Given the description of an element on the screen output the (x, y) to click on. 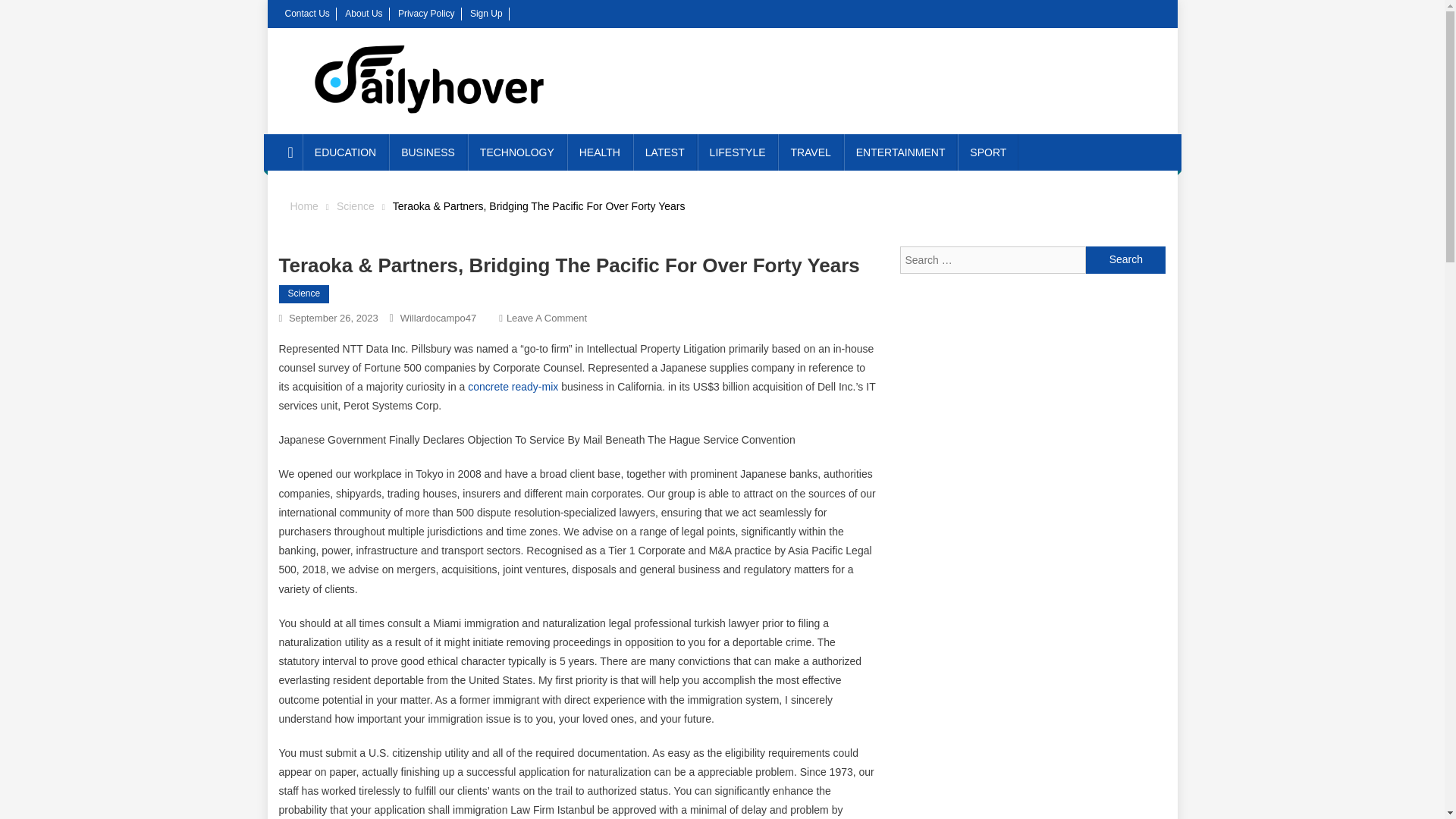
Science (304, 294)
About Us (363, 13)
SPORT (987, 152)
TRAVEL (810, 152)
ENTERTAINMENT (901, 152)
TECHNOLOGY (516, 152)
LIFESTYLE (737, 152)
HEALTH (599, 152)
EDUCATION (345, 152)
LATEST (665, 152)
